Given the description of an element on the screen output the (x, y) to click on. 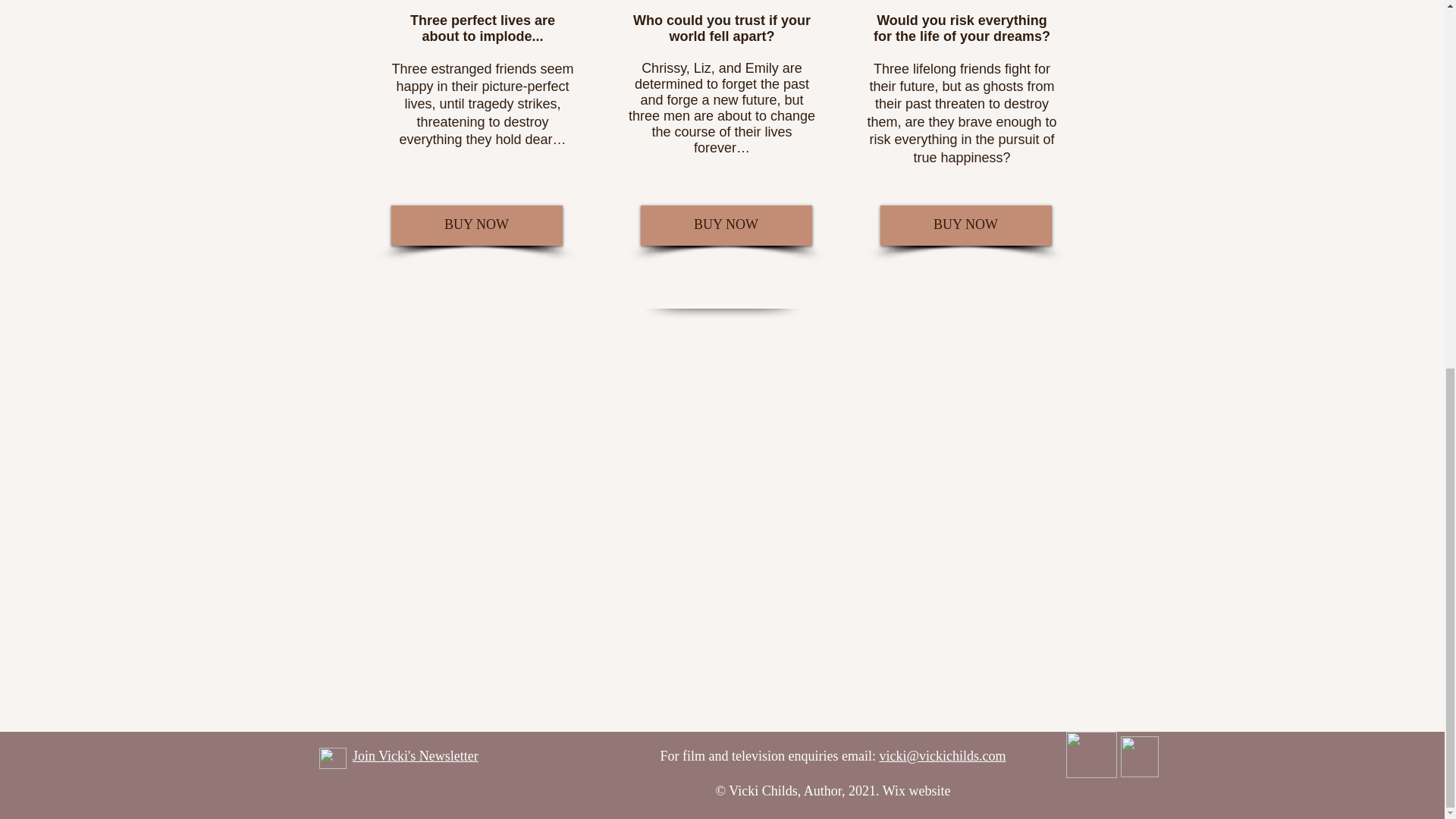
BUY NOW (476, 225)
BUY NOW (725, 225)
Join Vicki's Newsletter (415, 755)
BUY NOW (965, 225)
